Given the description of an element on the screen output the (x, y) to click on. 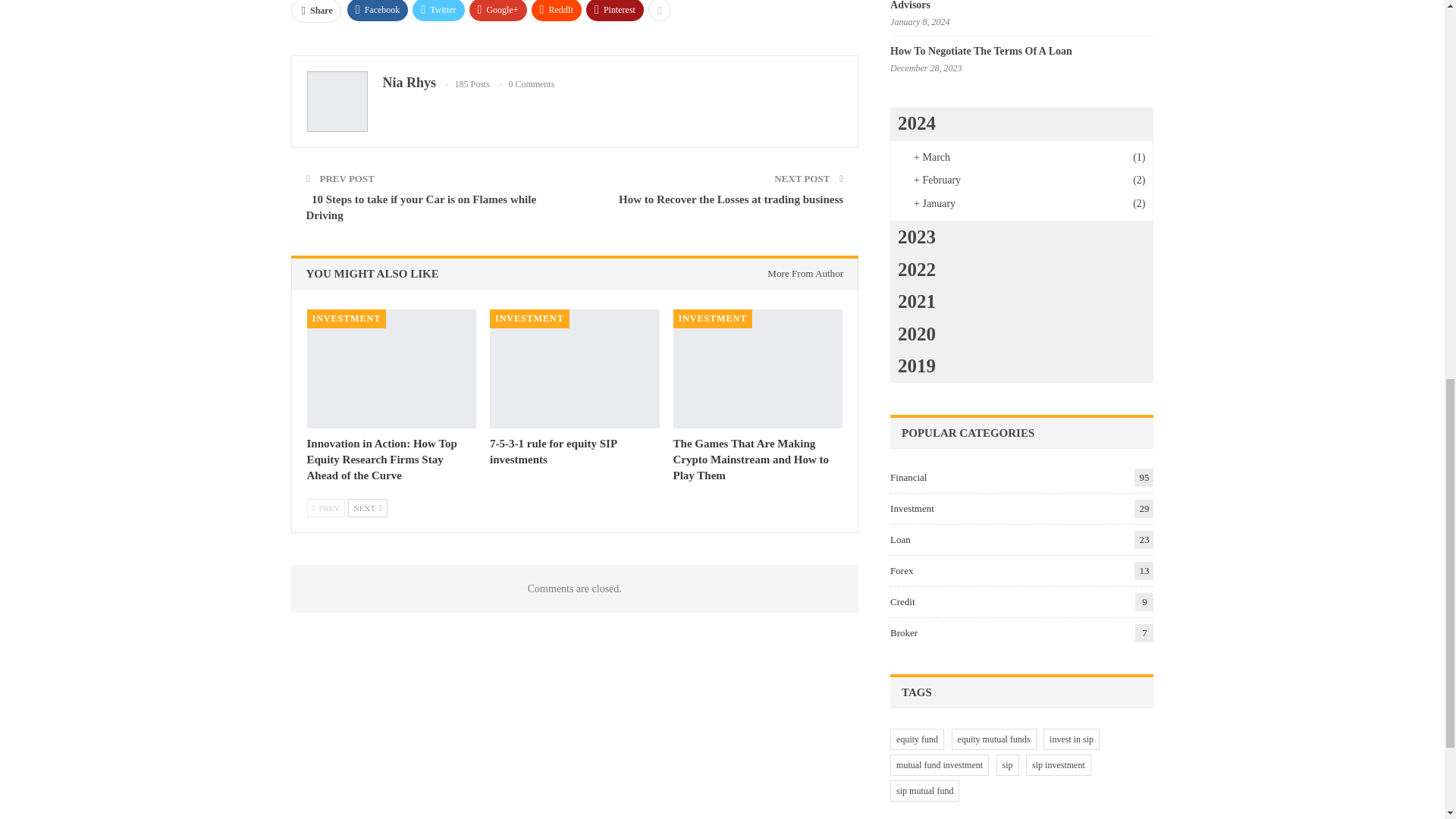
Pinterest (614, 10)
Next (367, 507)
7-5-3-1 rule for equity SIP investments (574, 368)
7-5-3-1 rule for equity SIP investments (552, 451)
Previous (325, 507)
Facebook (378, 10)
How to Recover the Losses at trading business (730, 199)
Nia Rhys (408, 82)
ReddIt (556, 10)
